Given the description of an element on the screen output the (x, y) to click on. 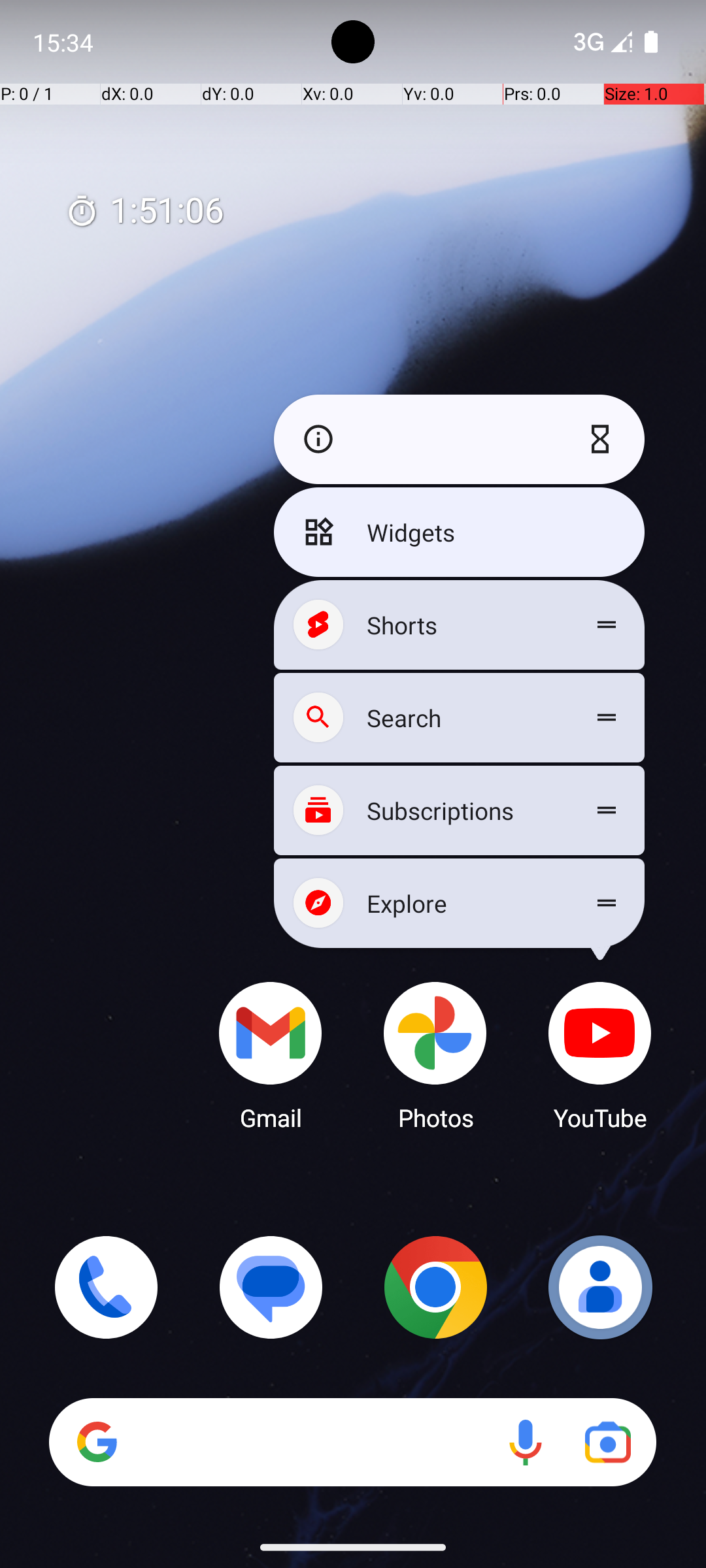
Pause app Element type: android.widget.ImageView (603, 438)
Explore Element type: android.widget.TextView (458, 902)
Widgets Element type: android.widget.TextView (458, 531)
